Given the description of an element on the screen output the (x, y) to click on. 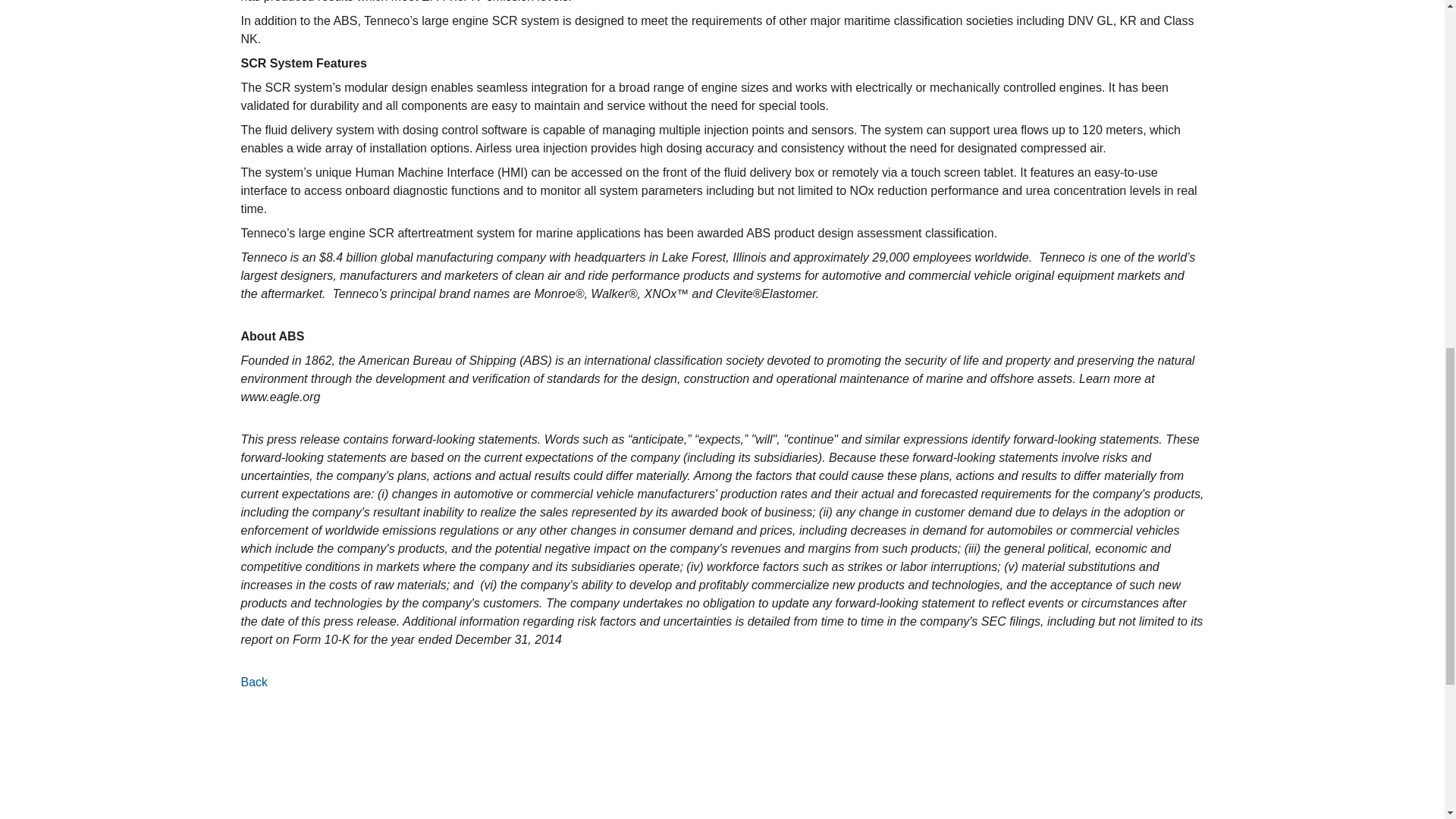
Back (254, 681)
